Given the description of an element on the screen output the (x, y) to click on. 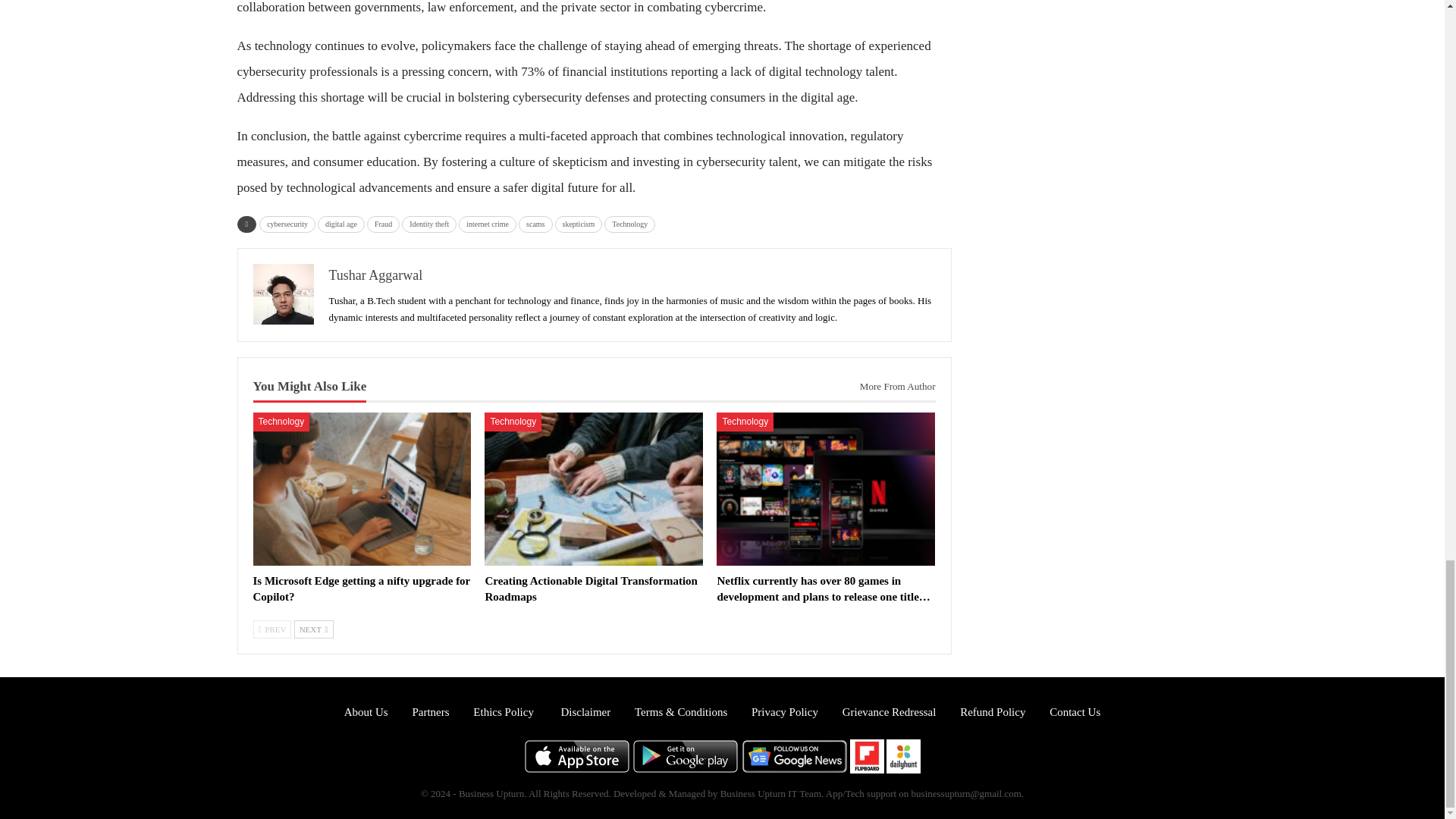
Is Microsoft Edge getting a nifty upgrade for Copilot? (361, 588)
Next (313, 628)
Creating Actionable Digital Transformation Roadmaps (590, 588)
Creating Actionable Digital Transformation Roadmaps (593, 488)
Is Microsoft Edge getting a nifty upgrade for Copilot? (362, 488)
Previous (272, 628)
